Given the description of an element on the screen output the (x, y) to click on. 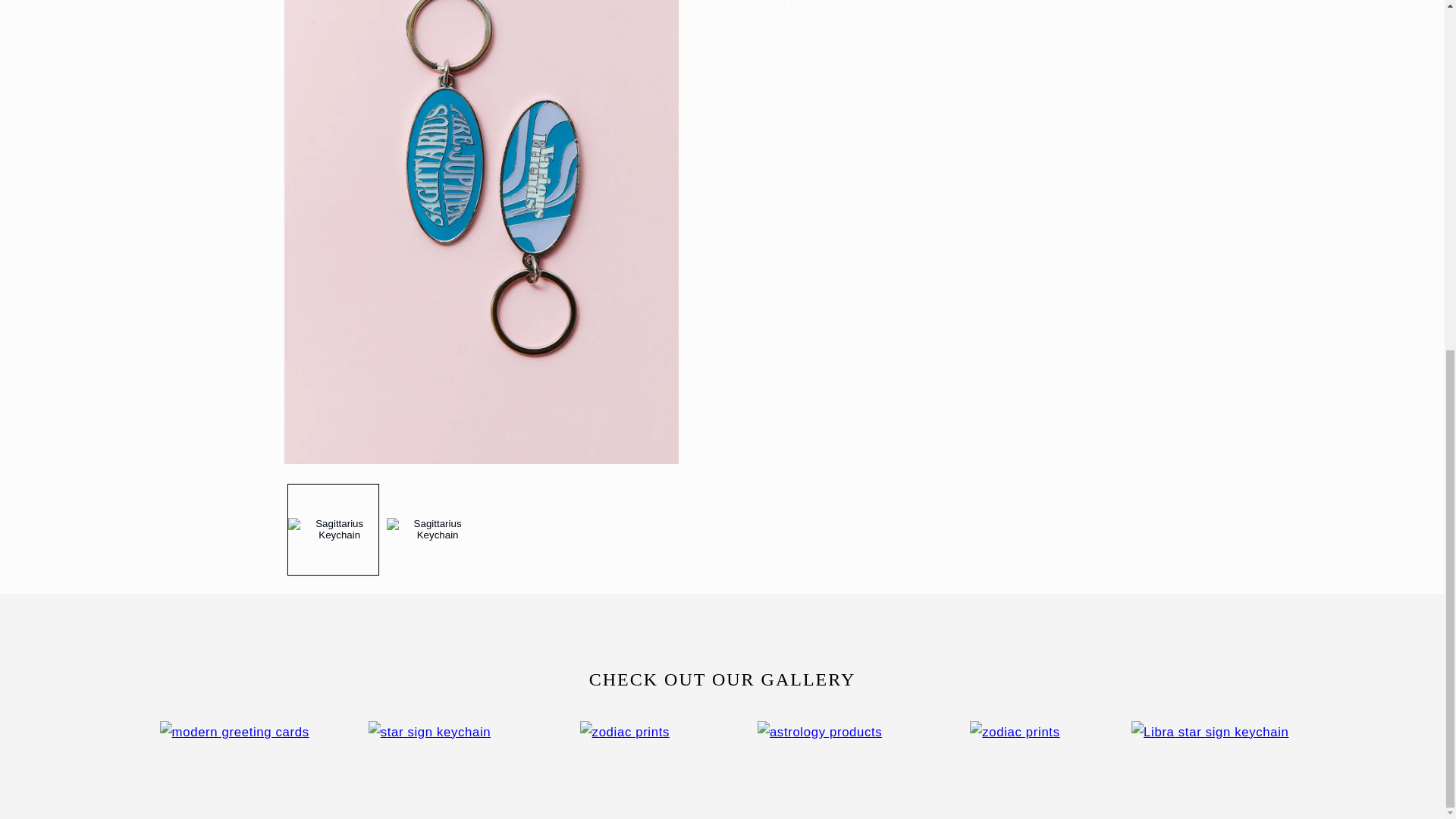
Increase quantity for Sagittarius Keychain (807, 44)
Add to cart (892, 99)
Decrease quantity for Sagittarius Keychain (735, 44)
1 (771, 44)
